Given the description of an element on the screen output the (x, y) to click on. 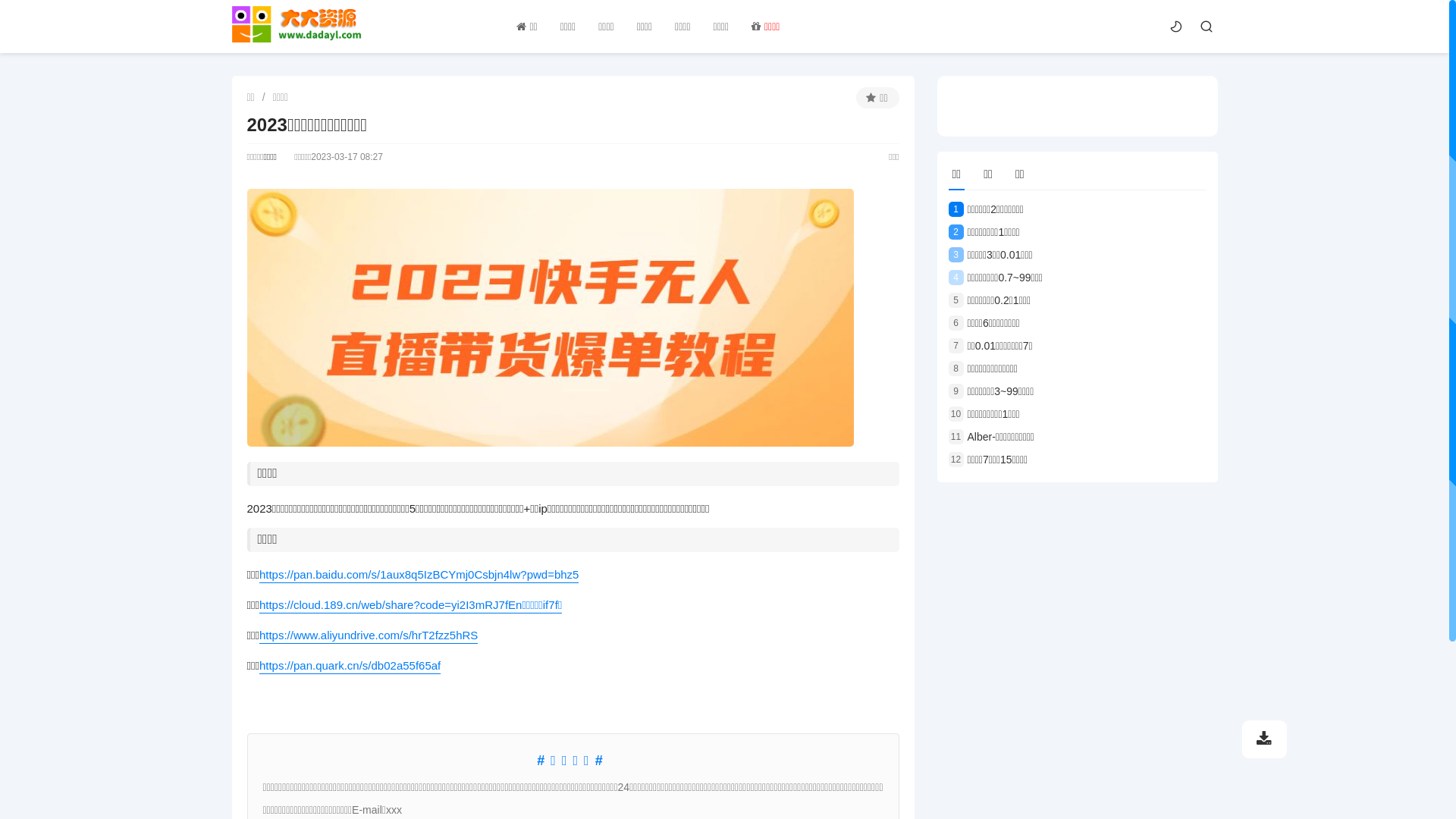
https://pan.quark.cn/s/db02a55f65af Element type: text (349, 665)
https://pan.baidu.com/s/1aux8q5IzBCYmj0Csbjn4lw?pwd=bhz5 Element type: text (419, 574)
https://www.aliyundrive.com/s/hrT2fzz5hRS Element type: text (368, 635)
